Given the description of an element on the screen output the (x, y) to click on. 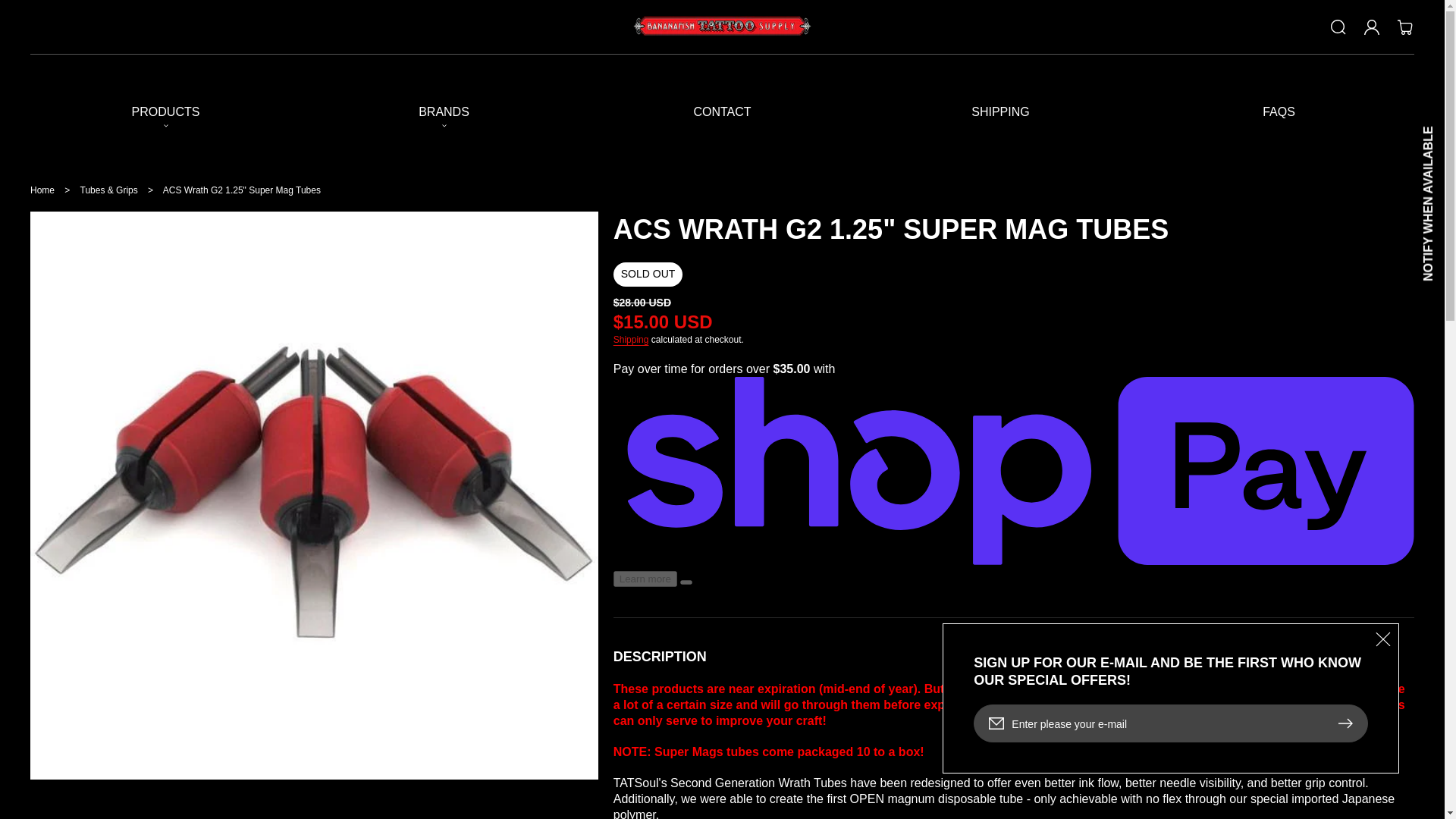
SKIP TO CONTENT (29, 18)
Home (42, 190)
